Given the description of an element on the screen output the (x, y) to click on. 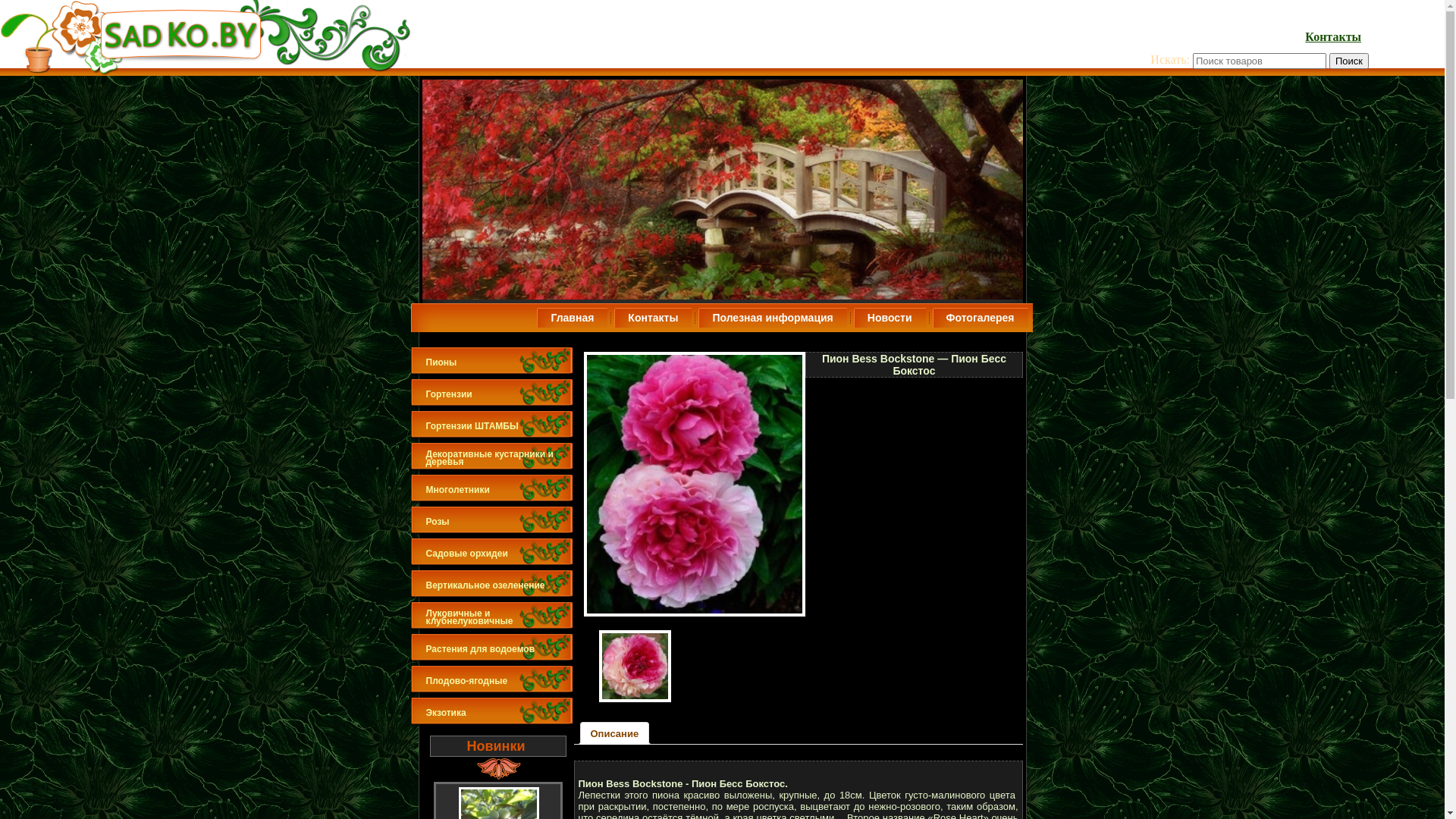
dinntalk_619.800x600w Element type: hover (616, 666)
9bc317db089cb0267ca28c7158b33f8d Element type: hover (691, 483)
